Given the description of an element on the screen output the (x, y) to click on. 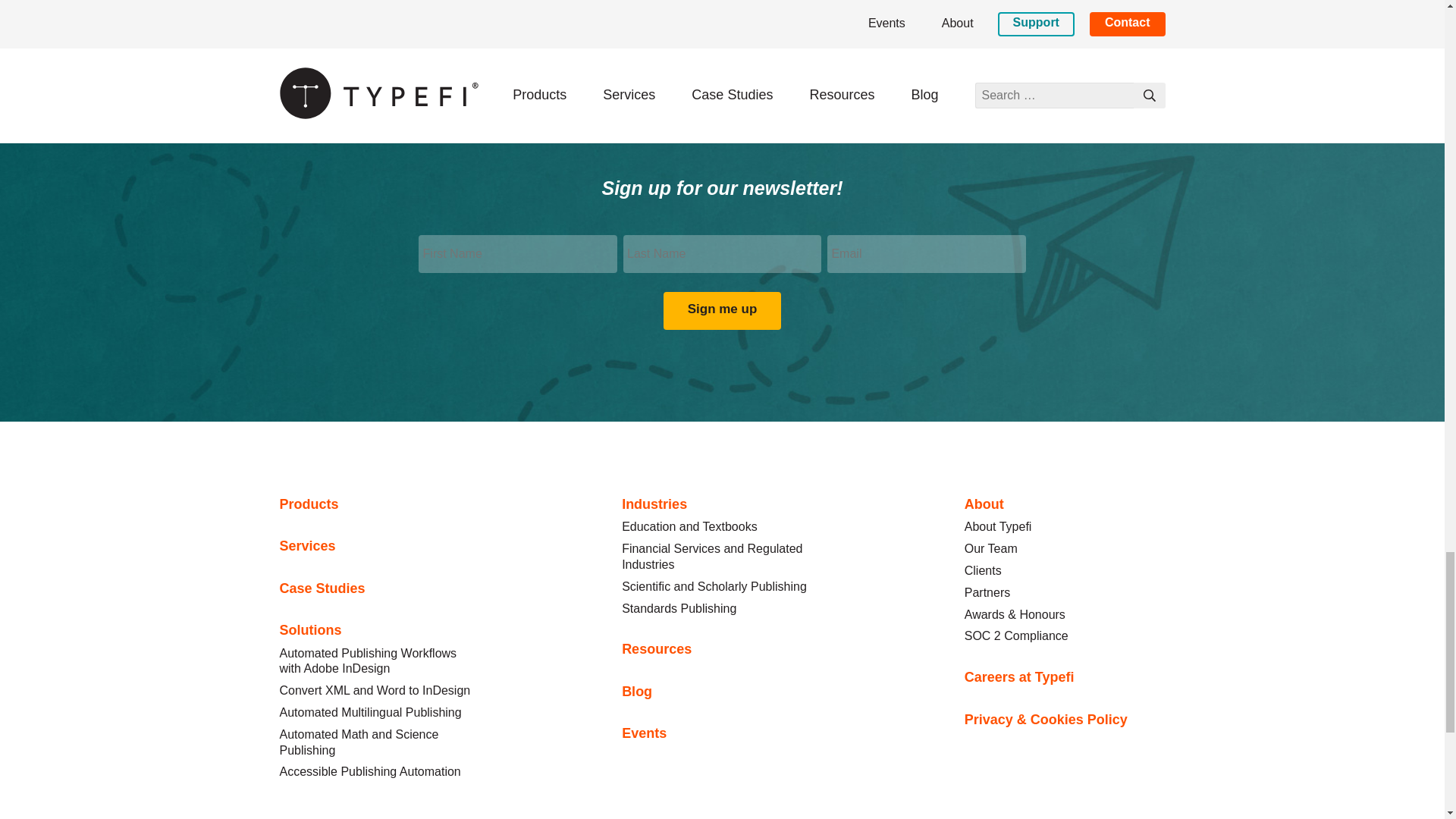
Sign me up (722, 310)
